Given the description of an element on the screen output the (x, y) to click on. 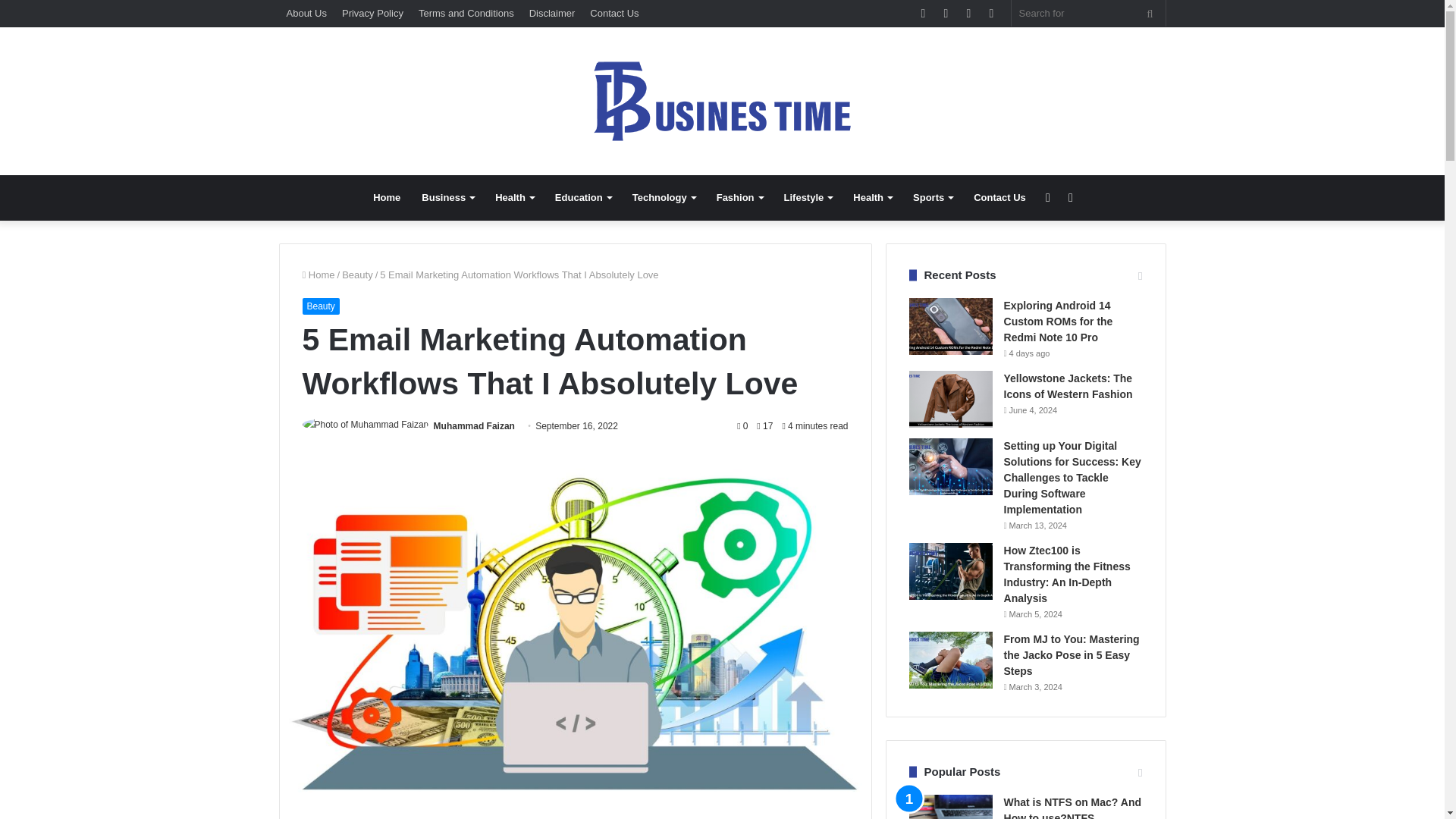
Home (317, 274)
Sports (932, 197)
Disclaimer (552, 13)
About Us (306, 13)
Busines Time (722, 100)
Business (447, 197)
Fashion (739, 197)
Beauty (357, 274)
Contact Us (999, 197)
Beauty (320, 306)
